Given the description of an element on the screen output the (x, y) to click on. 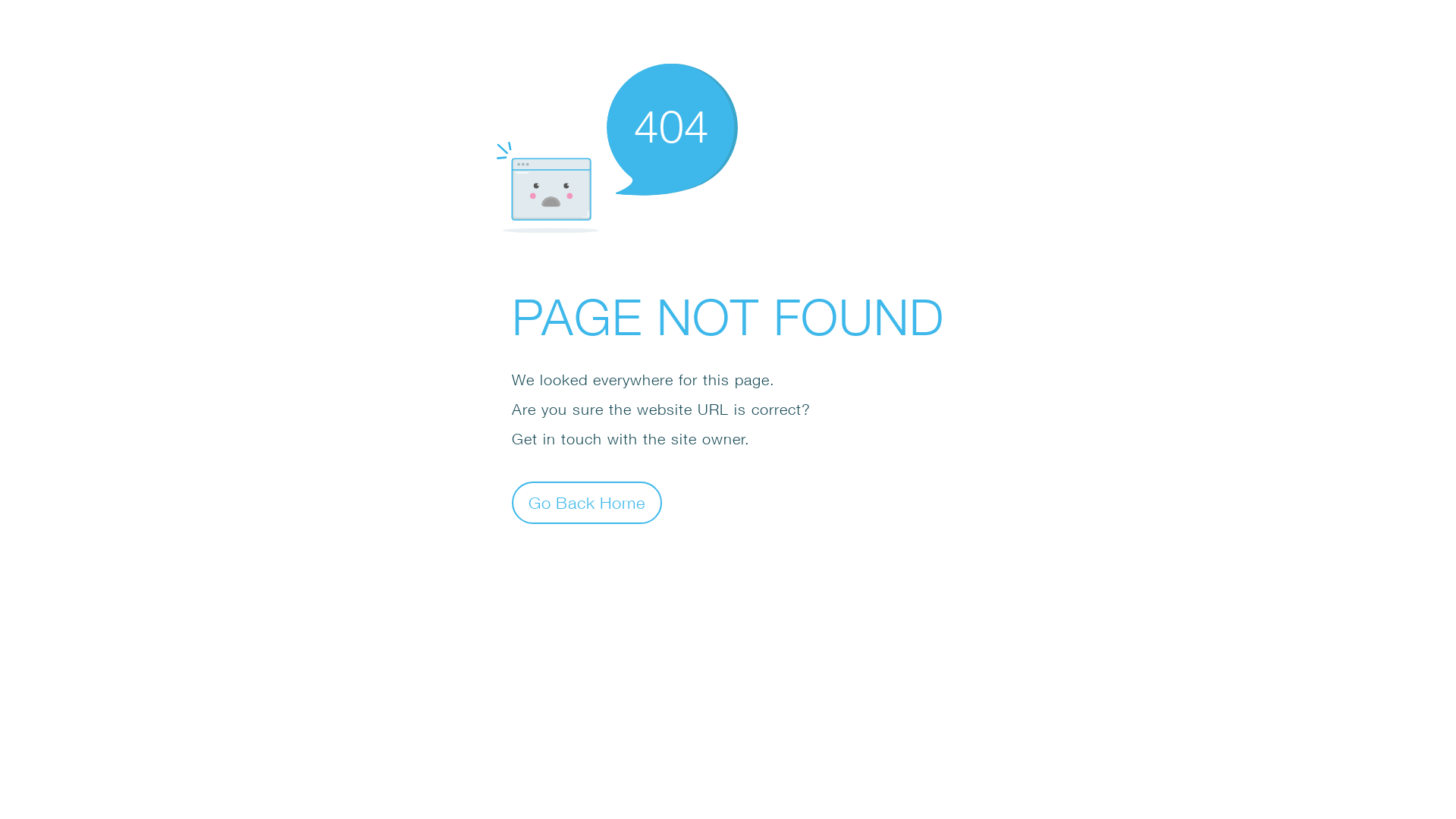
Go Back Home Element type: text (586, 502)
